Given the description of an element on the screen output the (x, y) to click on. 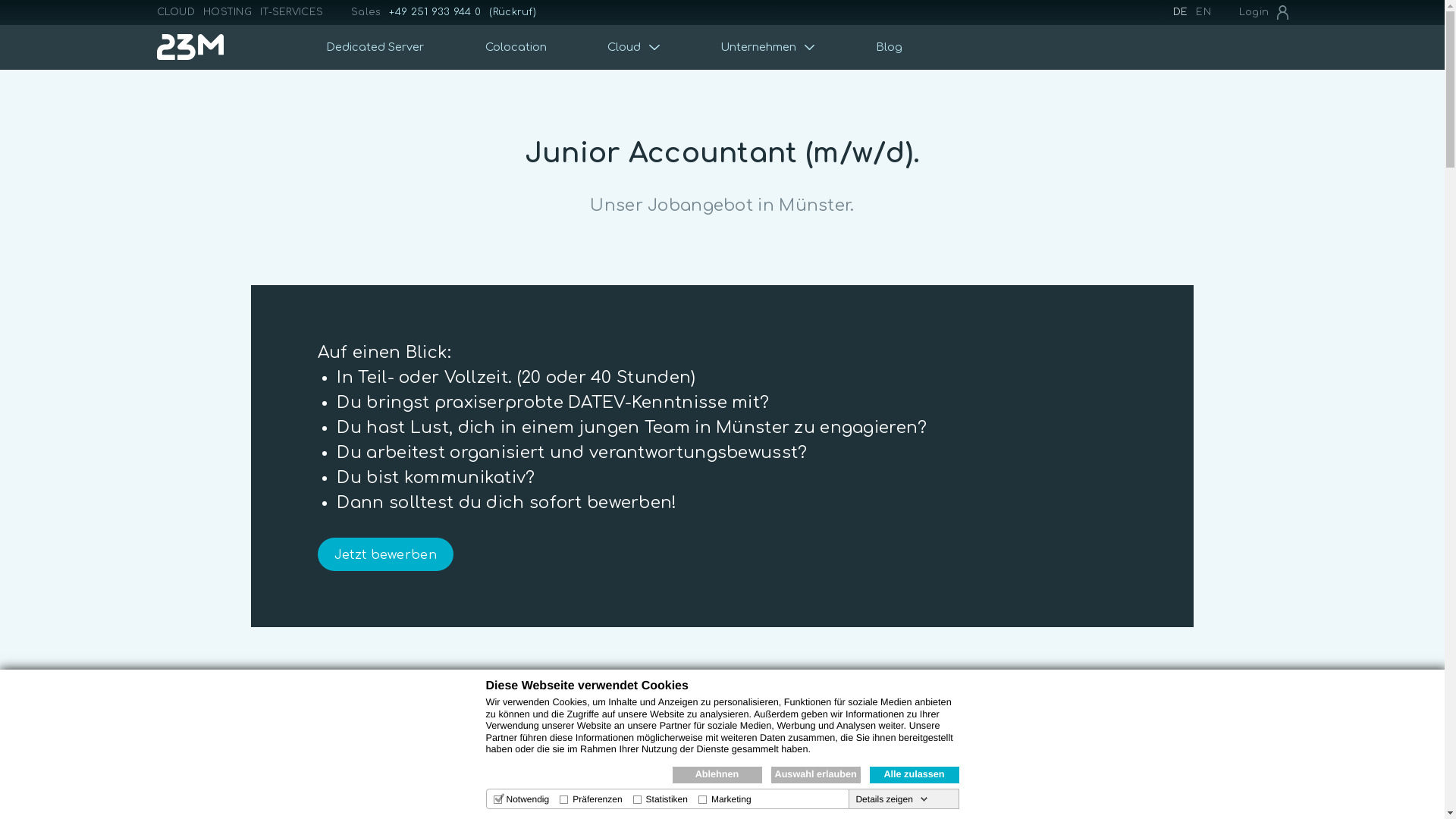
Auswahl erlauben Element type: text (814, 774)
Details zeigen Element type: text (891, 799)
+49 251 933 944 0 Element type: text (434, 12)
Jetzt bewerben Element type: text (385, 554)
EN Element type: text (1203, 12)
Cloud Element type: text (633, 47)
Unternehmen Element type: text (767, 47)
Alle zulassen Element type: text (913, 774)
Ablehnen Element type: text (716, 774)
Blog Element type: text (889, 47)
Dedicated Server Element type: text (375, 47)
Login Element type: text (1263, 11)
Colocation Element type: text (515, 47)
